Given the description of an element on the screen output the (x, y) to click on. 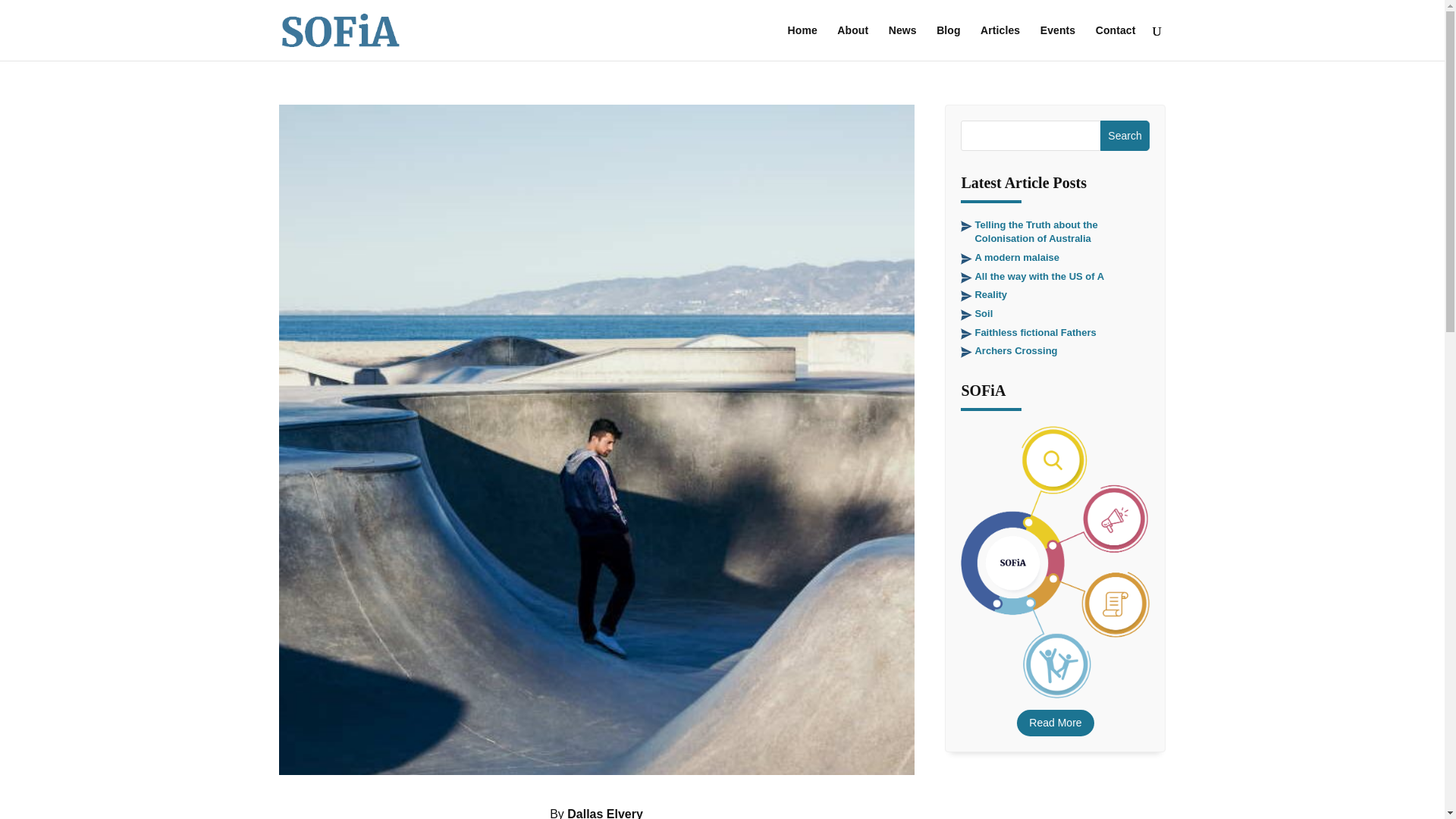
Search (1125, 135)
Telling the Truth about the Colonisation of Australia (1035, 231)
Contact (1115, 42)
Soil (983, 313)
All the way with the US of A (1038, 276)
Articles (999, 42)
Search (1125, 135)
Reality (990, 294)
Archers Crossing (1015, 350)
Faithless fictional Fathers (1035, 332)
